Given the description of an element on the screen output the (x, y) to click on. 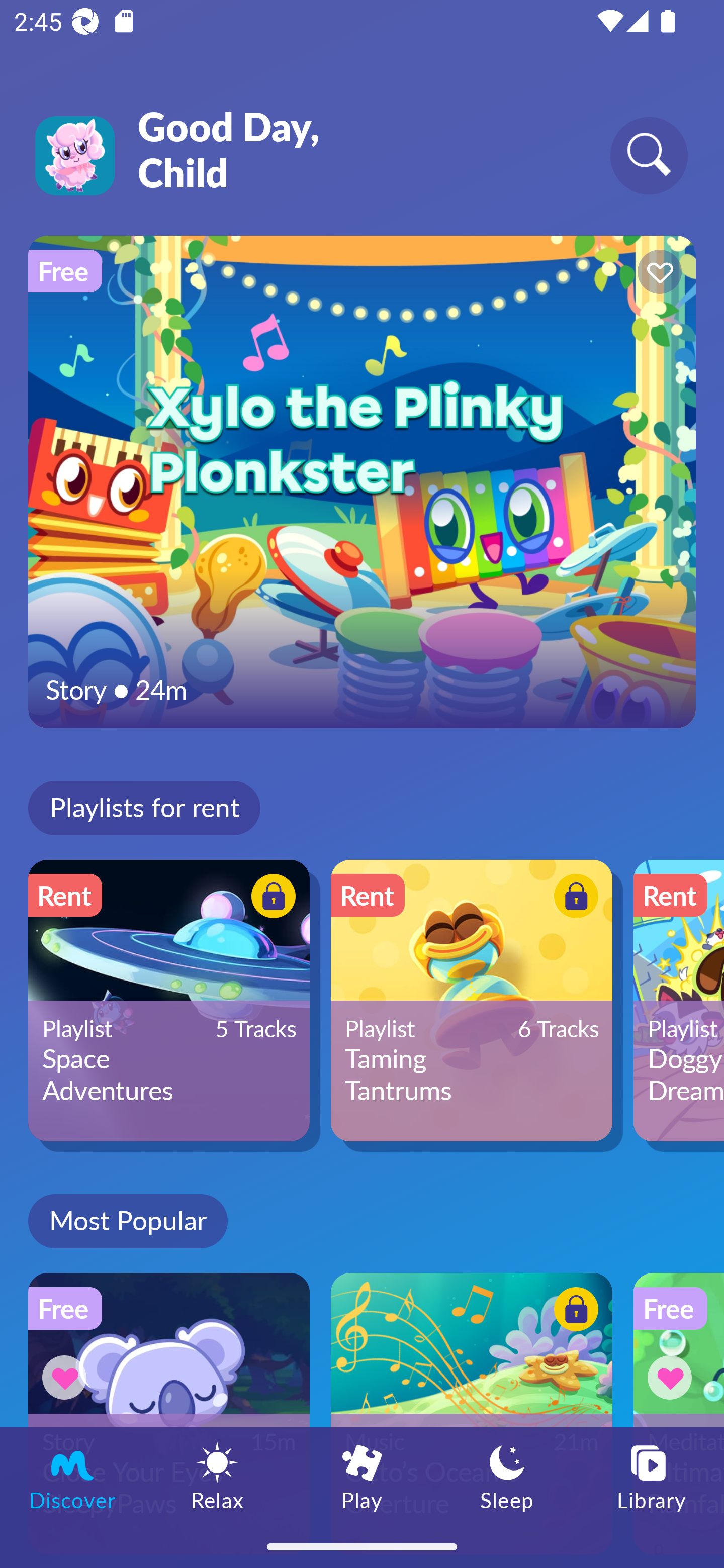
Search (648, 154)
Featured Content Free Button Story ● 24m (361, 481)
Button (656, 274)
Button (269, 898)
Button (573, 898)
Button (573, 1312)
Button (67, 1377)
Button (672, 1377)
Relax (216, 1475)
Play (361, 1475)
Sleep (506, 1475)
Library (651, 1475)
